Given the description of an element on the screen output the (x, y) to click on. 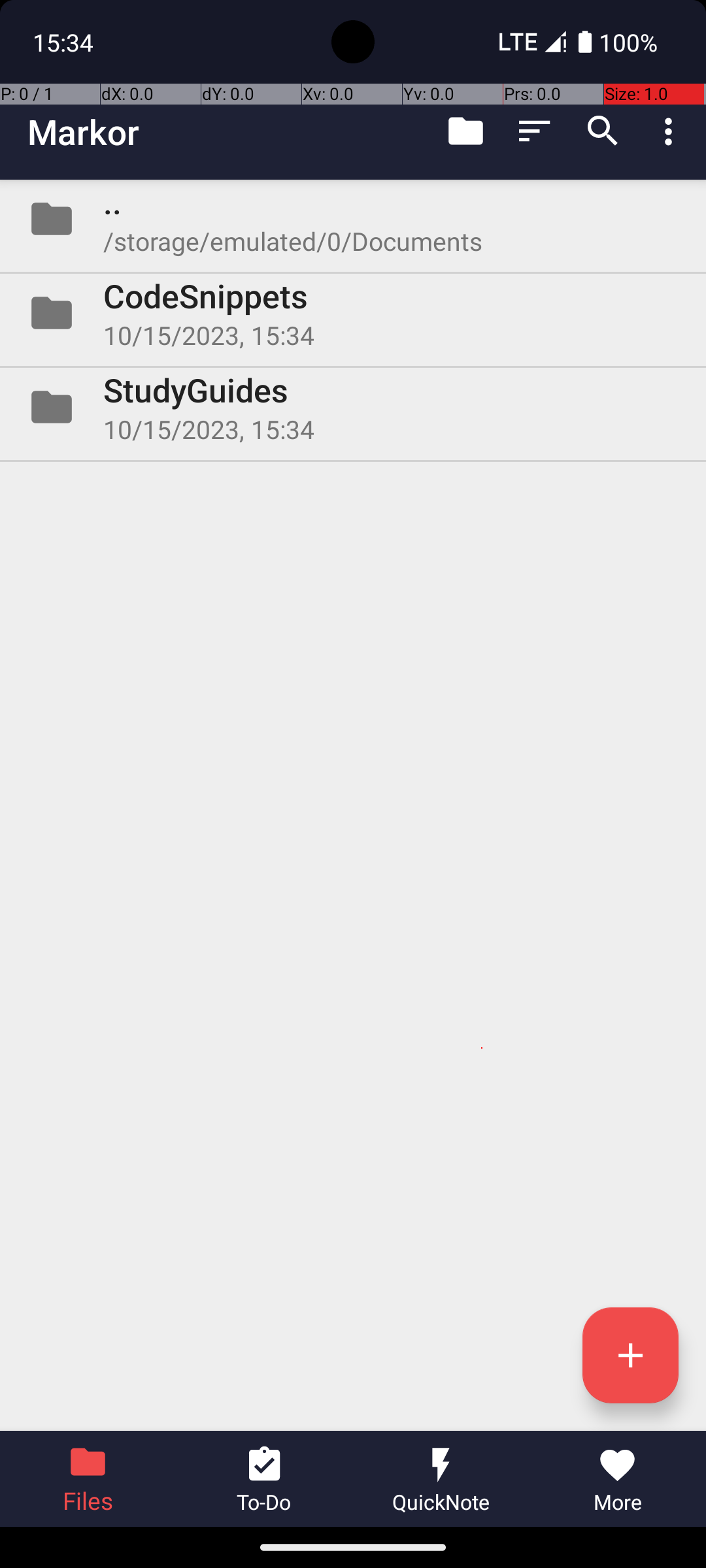
Folder CodeSnippets  Element type: android.widget.LinearLayout (353, 312)
Folder StudyGuides  Element type: android.widget.LinearLayout (353, 406)
